Given the description of an element on the screen output the (x, y) to click on. 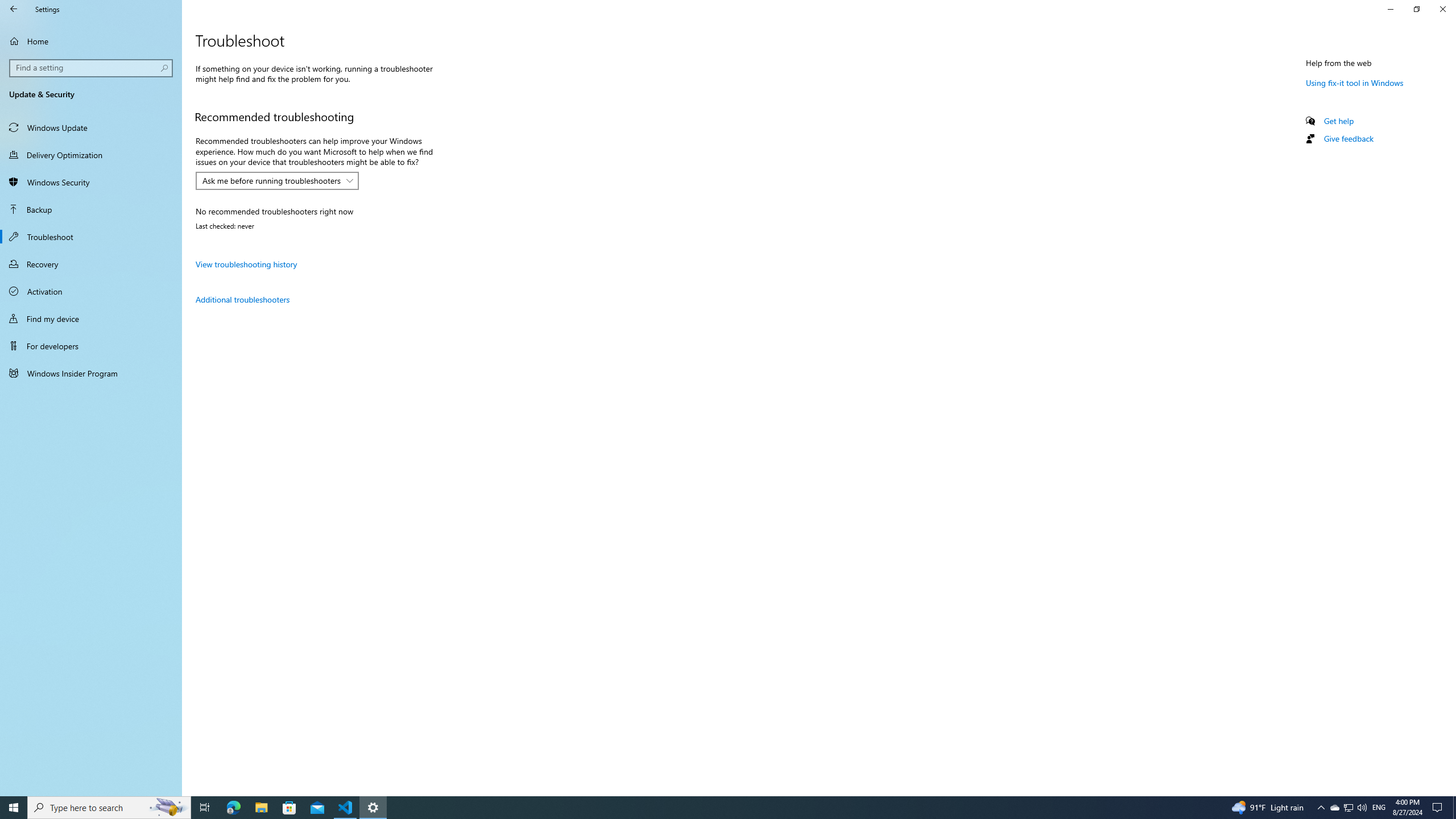
Start (13, 807)
Ask me before running troubleshooters (271, 180)
Windows Security (91, 181)
Backup (91, 208)
Windows Insider Program (91, 372)
File Explorer (261, 807)
Activation (91, 290)
Get help (1338, 120)
Visual Studio Code - 1 running window (345, 807)
Give feedback (1348, 138)
Type here to search (108, 807)
Settings - 1 running window (373, 807)
Q2790: 100% (1361, 807)
Close Settings (1442, 9)
